Given the description of an element on the screen output the (x, y) to click on. 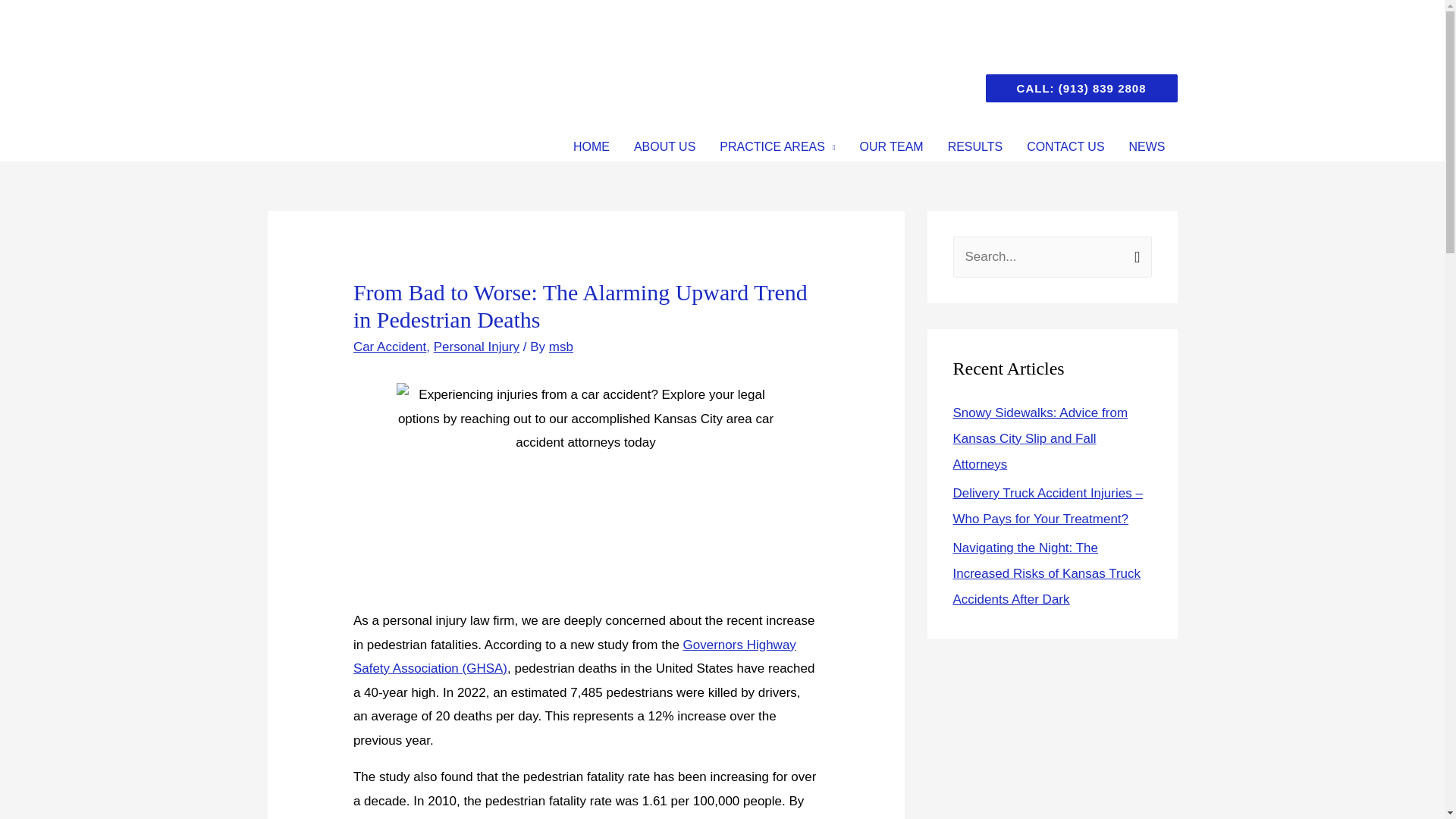
CONTACT US (1065, 146)
View all posts by msb (560, 346)
Search (1134, 252)
Search (1134, 252)
NEWS (1146, 146)
PRACTICE AREAS (777, 146)
OUR TEAM (891, 146)
HOME (590, 146)
ABOUT US (664, 146)
RESULTS (975, 146)
